Given the description of an element on the screen output the (x, y) to click on. 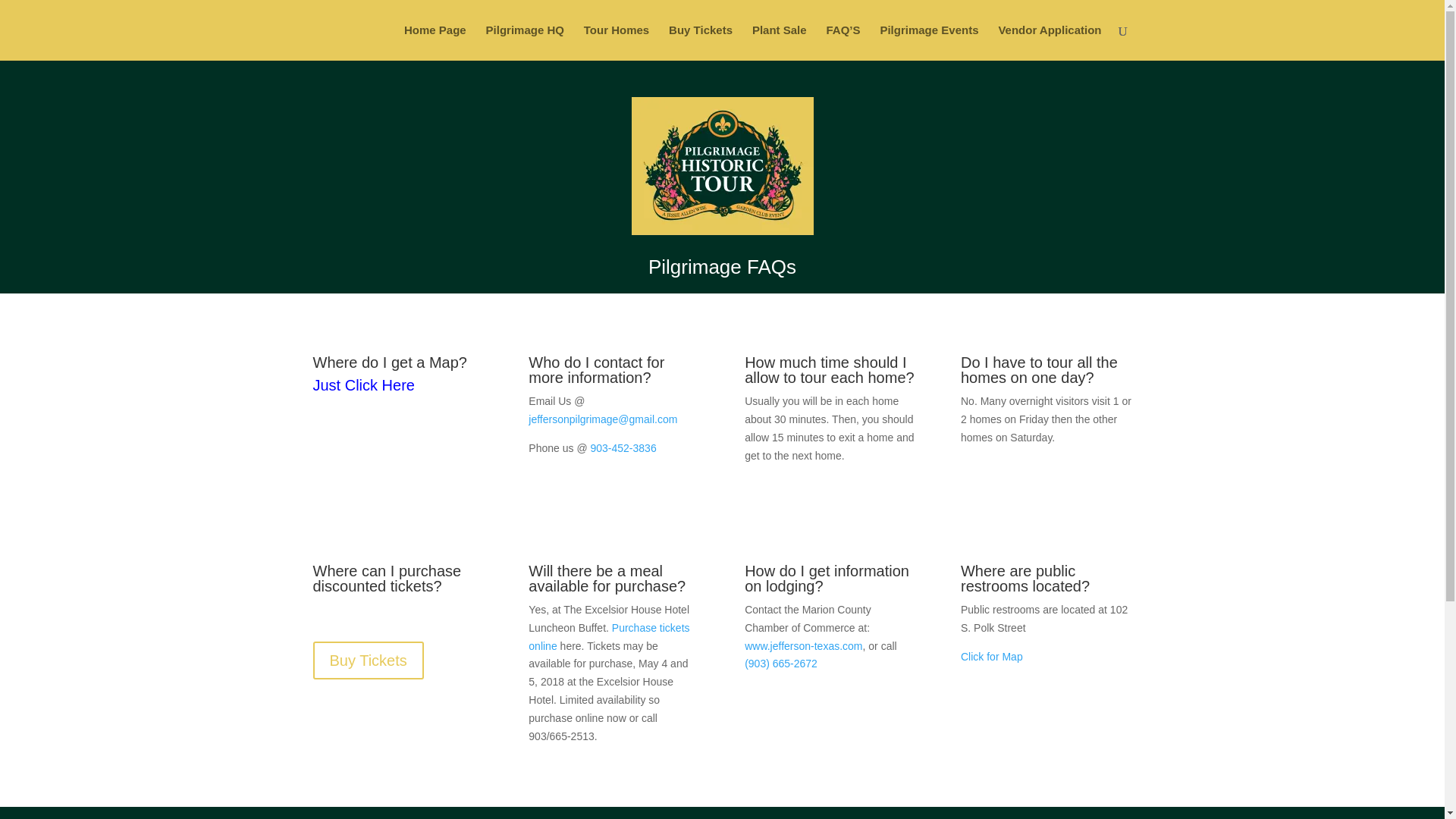
903-452-3836 (622, 448)
www.jefferson-texas.com (802, 645)
Home Page (434, 42)
pilgrimage logo (721, 166)
Purchase tickets online (608, 636)
Pilgrimage Events (928, 42)
Plant Sale (779, 42)
Just Click Here (363, 384)
Buy Tickets (700, 42)
Tour Homes (616, 42)
Pilgrimage HQ (525, 42)
Vendor Application (1048, 42)
Buy Tickets (368, 660)
